Given the description of an element on the screen output the (x, y) to click on. 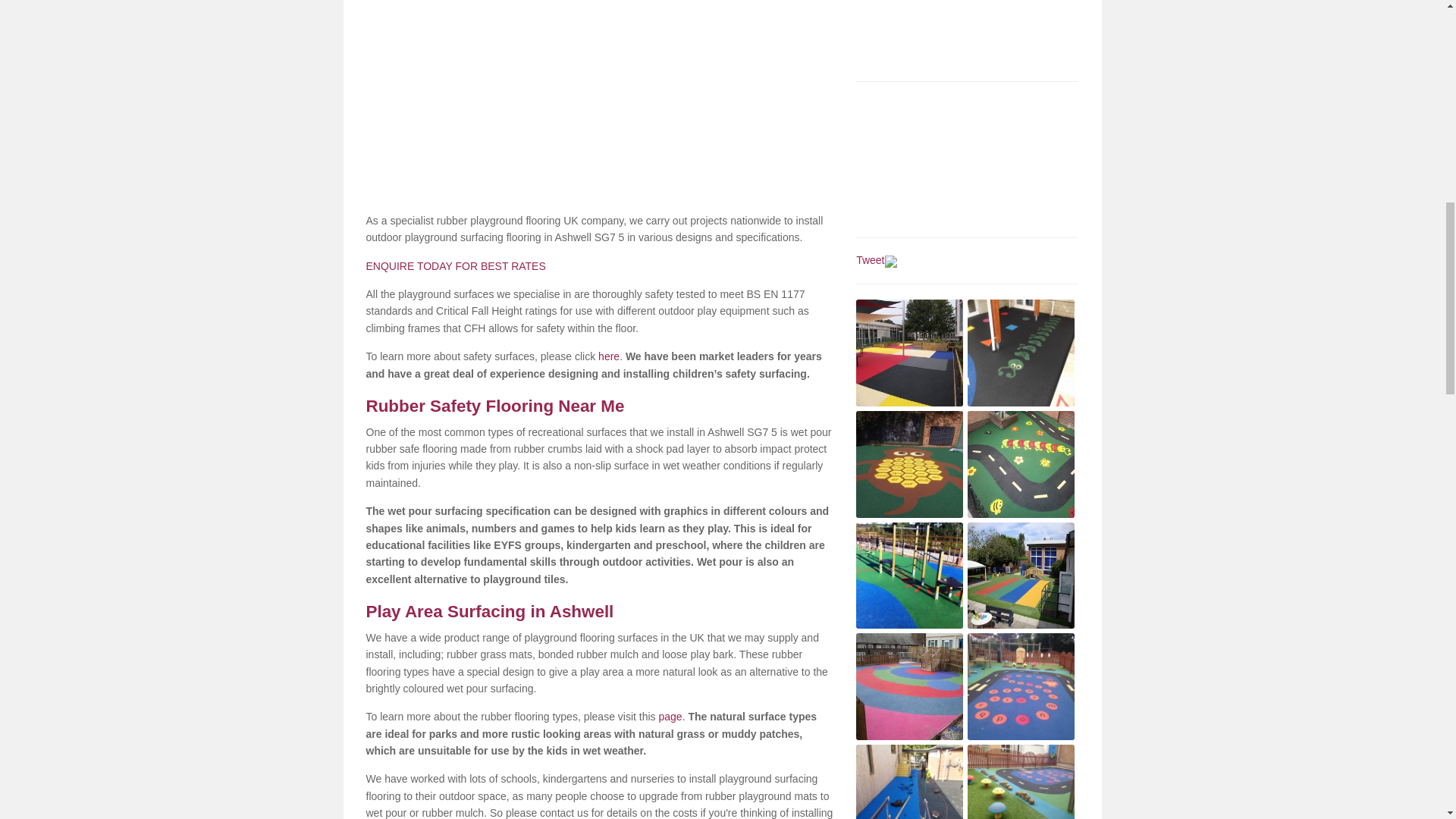
Playground Surface Flooring in Ashwell 2 (1021, 352)
here (609, 356)
Playground Surface Flooring in Ashwell 3 (909, 464)
Playground Surface Flooring in Ashwell 7 (909, 686)
Playground Surface Flooring in Ashwell 4 (1021, 464)
Playground Surface Flooring in Ashwell 9 (909, 781)
page (669, 716)
ENQUIRE TODAY FOR BEST RATES (454, 265)
Playground Surface Flooring in Ashwell 6 (1021, 575)
Playground Surface Flooring in Ashwell 8 (1021, 686)
Playground Surface Flooring in Ashwell 1 (909, 352)
Playground Surface Flooring in Ashwell 5 (909, 575)
Playground Surface Flooring in Ashwell 10 (1021, 781)
